Given the description of an element on the screen output the (x, y) to click on. 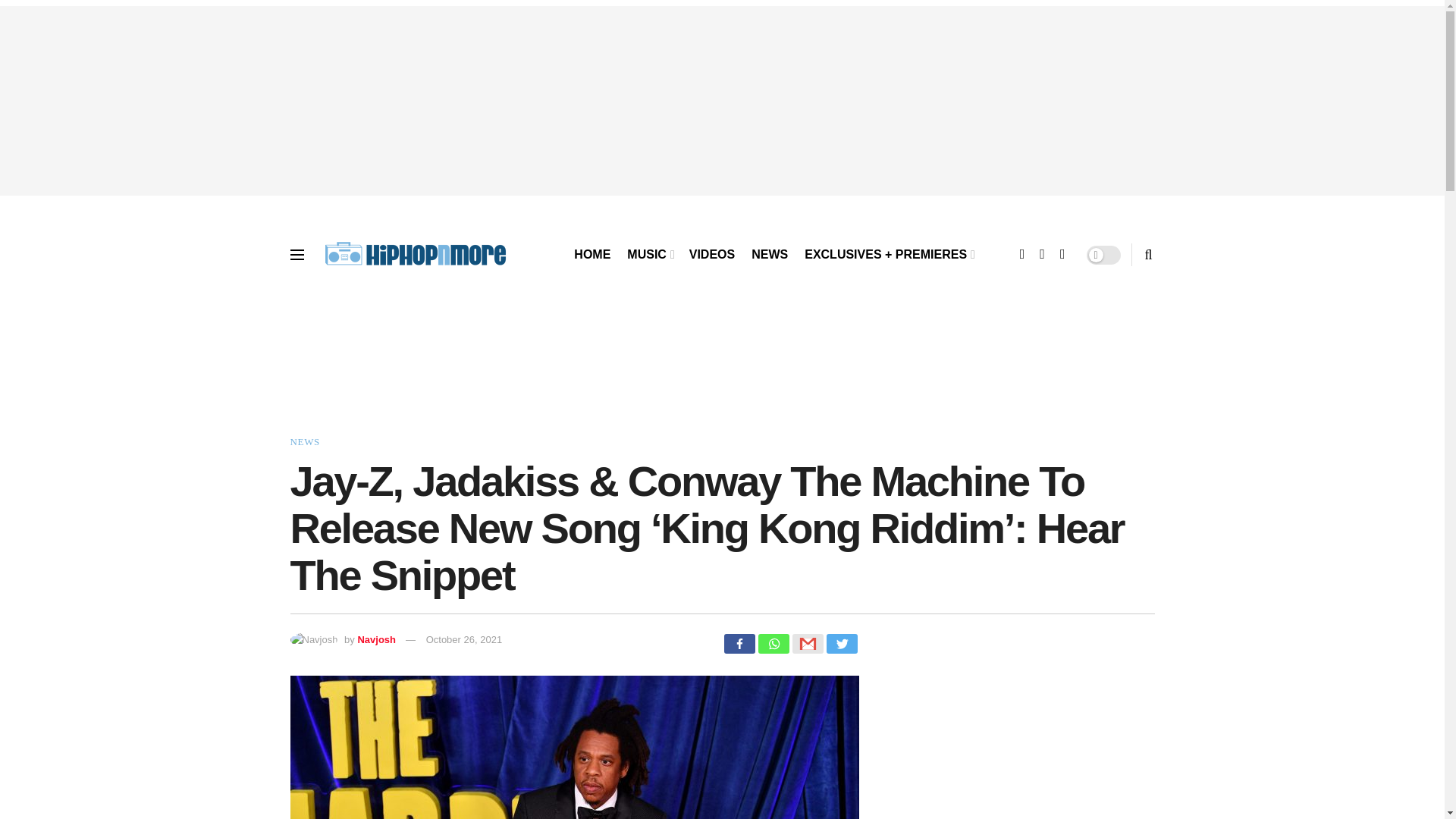
Navjosh (376, 639)
MUSIC (649, 254)
Facebook (738, 643)
October 26, 2021 (464, 639)
3rd party ad content (1007, 747)
3rd party ad content (721, 370)
Whatsapp (773, 643)
NEWS (303, 441)
Twitter (842, 643)
NEWS (769, 254)
Google Gmail (807, 643)
VIDEOS (711, 254)
HOME (591, 254)
